Given the description of an element on the screen output the (x, y) to click on. 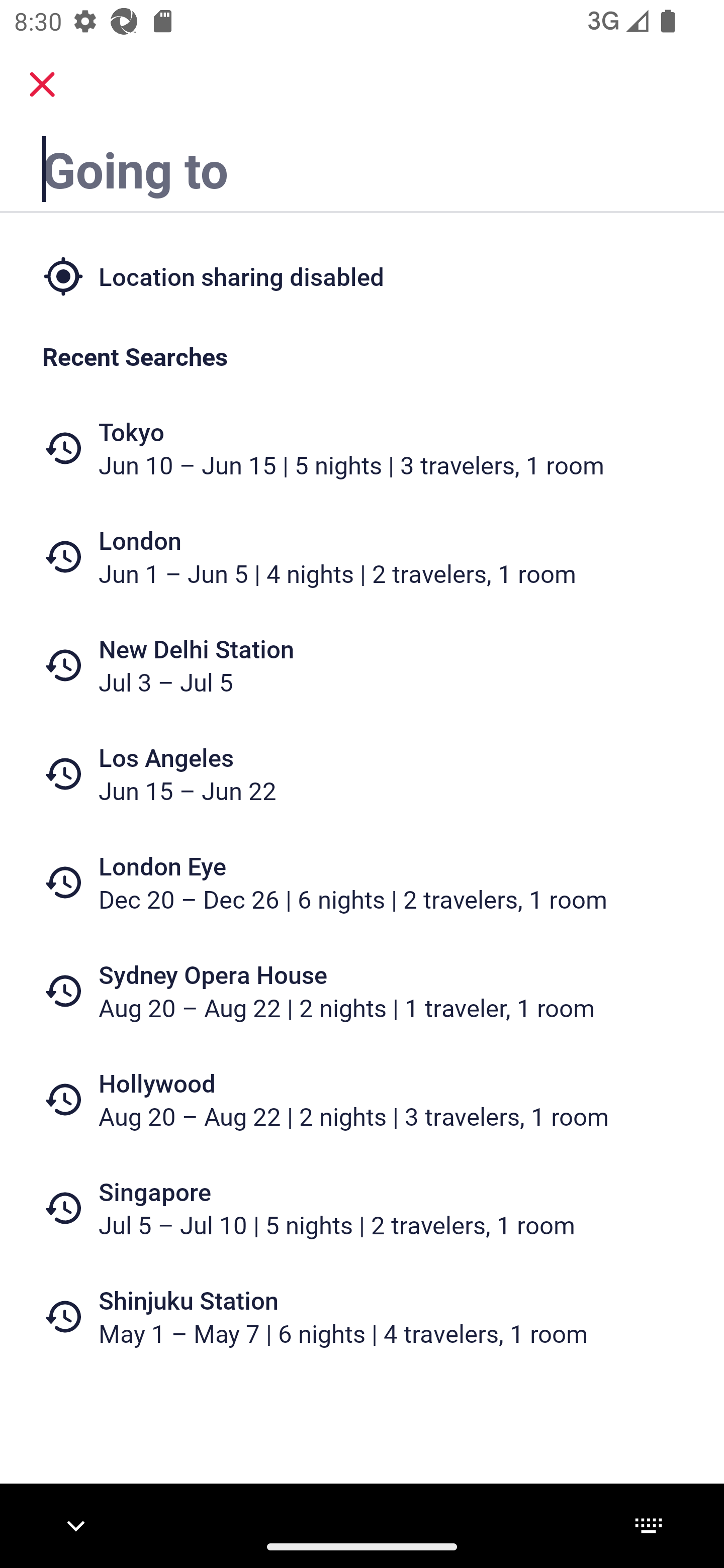
close. (42, 84)
Location sharing disabled (362, 275)
New Delhi Station Jul 3 – Jul 5 (362, 665)
Los Angeles Jun 15 – Jun 22 (362, 773)
